Given the description of an element on the screen output the (x, y) to click on. 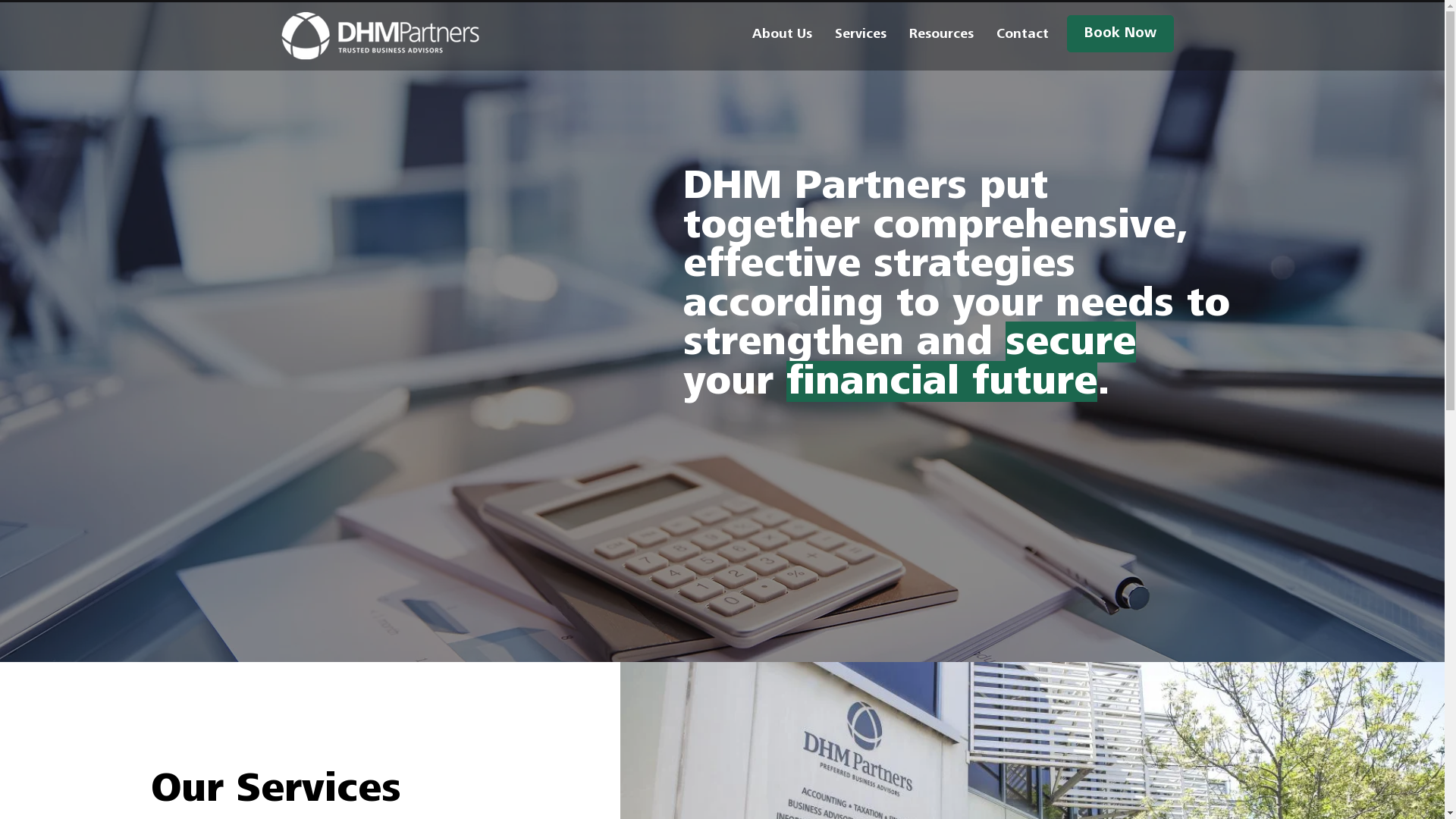
Book Now Element type: text (1119, 33)
Services Element type: text (860, 34)
About Us Element type: text (781, 34)
Resources Element type: text (941, 34)
Contact Element type: text (1021, 34)
